Given the description of an element on the screen output the (x, y) to click on. 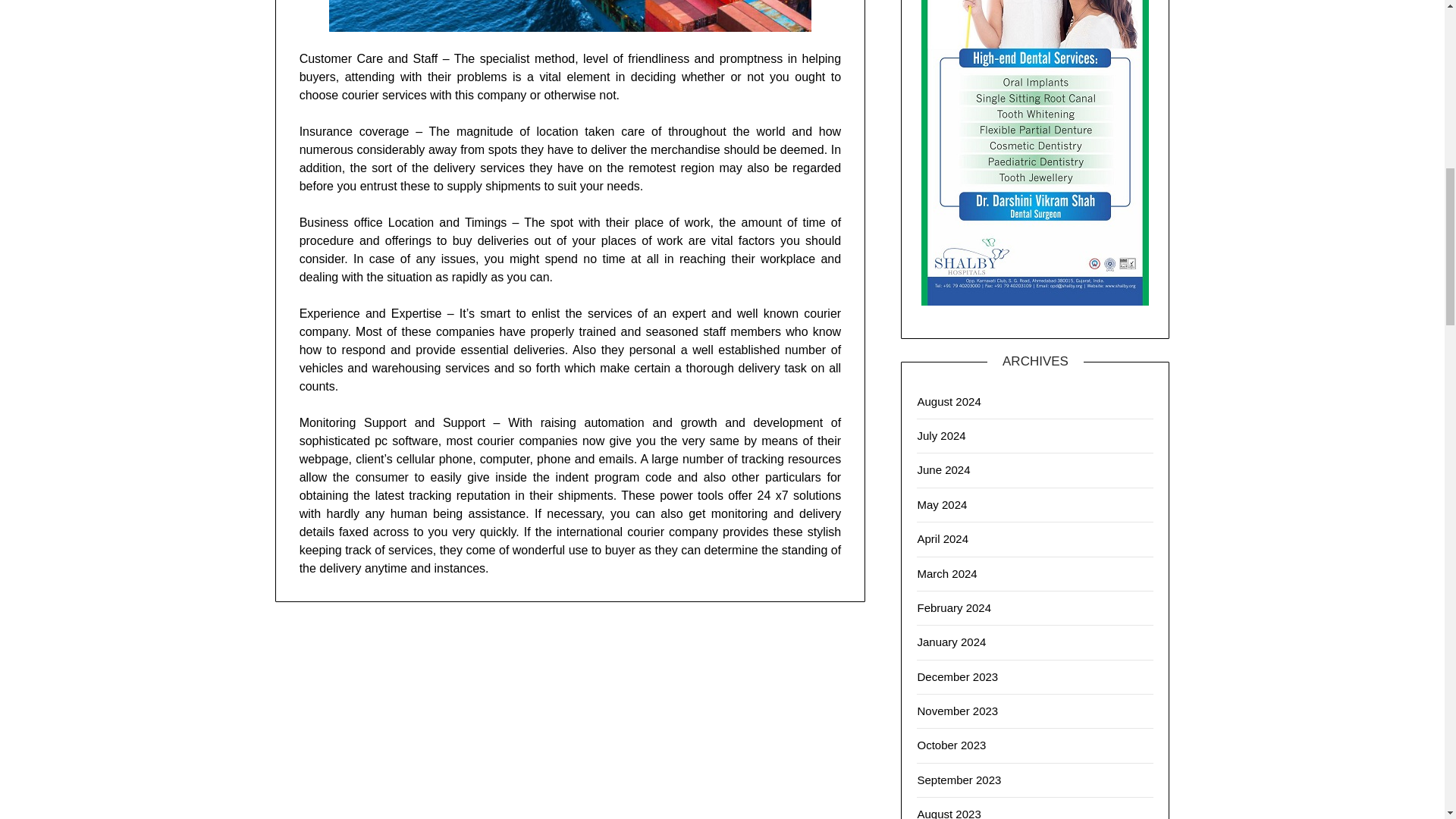
May 2024 (941, 504)
November 2023 (957, 710)
March 2024 (946, 573)
February 2024 (954, 607)
July 2024 (941, 435)
October 2023 (951, 744)
December 2023 (957, 676)
June 2024 (943, 469)
April 2024 (942, 538)
August 2024 (948, 400)
